Given the description of an element on the screen output the (x, y) to click on. 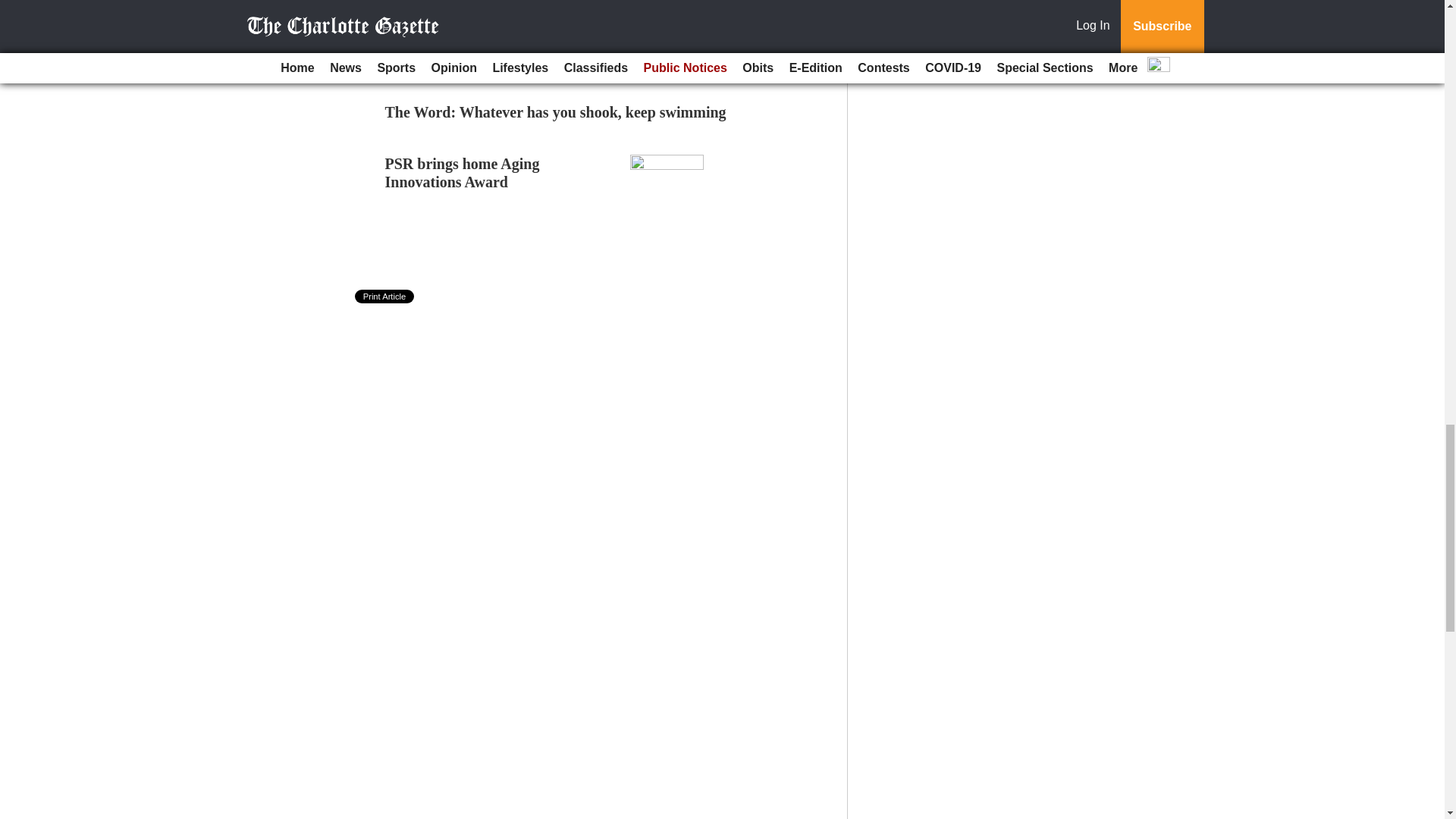
PSR brings home Aging Innovations Award (462, 172)
PSR brings home Aging Innovations Award (462, 172)
The Word: Whatever has you shook, keep swimming (555, 112)
The Word: Whatever has you shook, keep swimming (555, 112)
Print Article (384, 296)
